Given the description of an element on the screen output the (x, y) to click on. 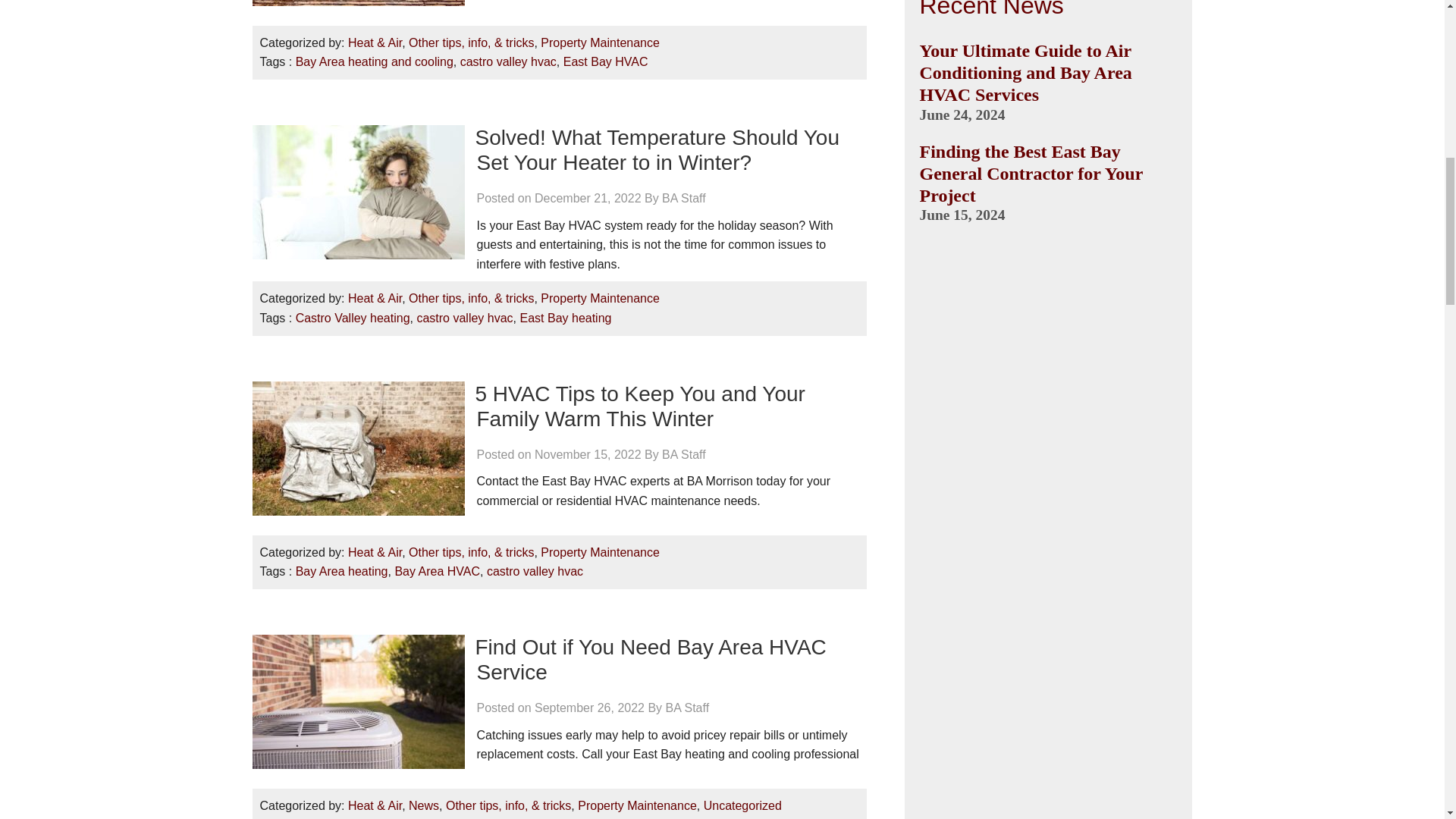
Property Maintenance (599, 42)
